Given the description of an element on the screen output the (x, y) to click on. 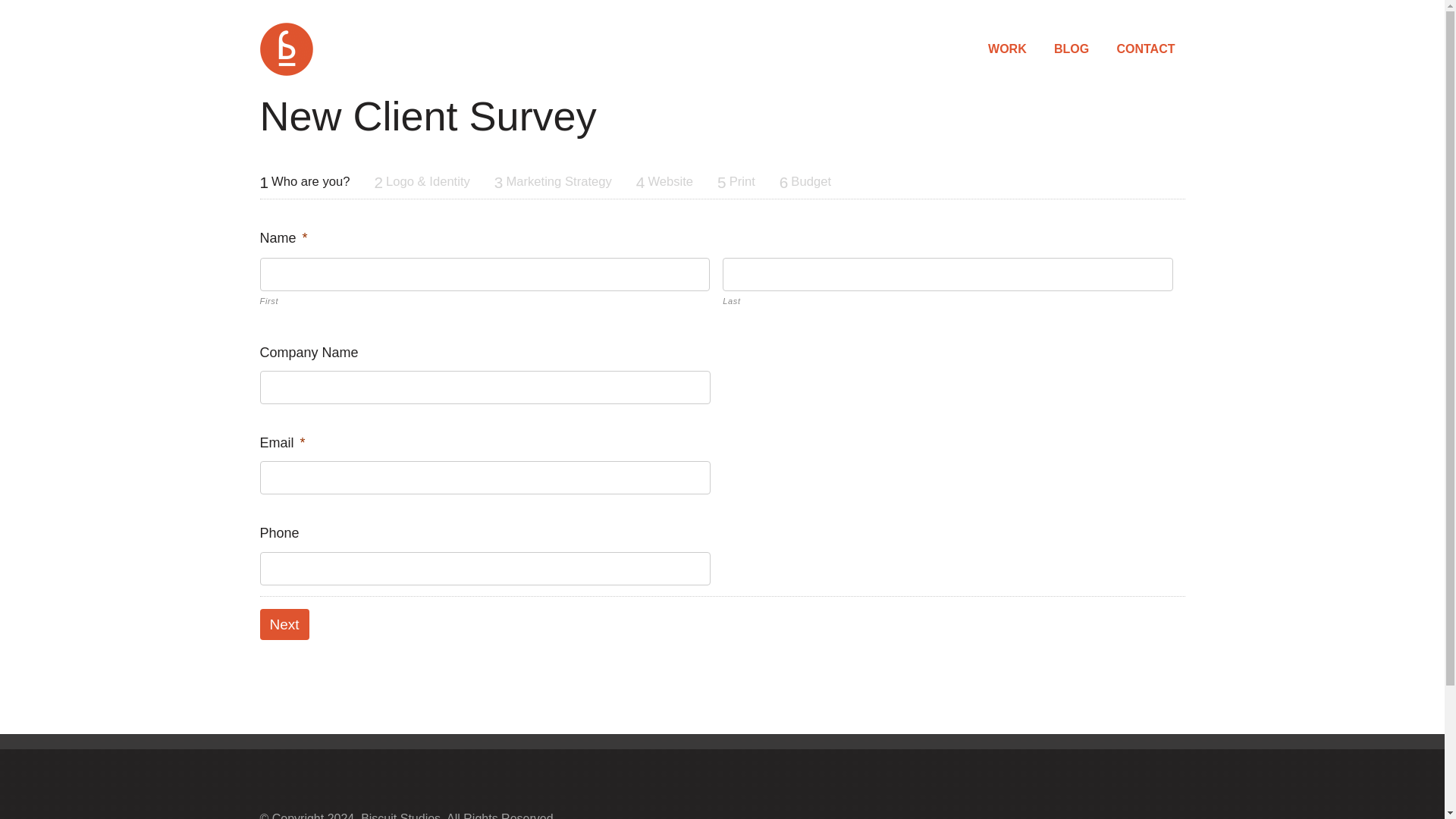
Next (283, 624)
Biscuit Studios (286, 49)
Blog (1071, 48)
CONTACT (1145, 48)
BLOG (1071, 48)
WORK (1007, 48)
Contact (1145, 48)
